Given the description of an element on the screen output the (x, y) to click on. 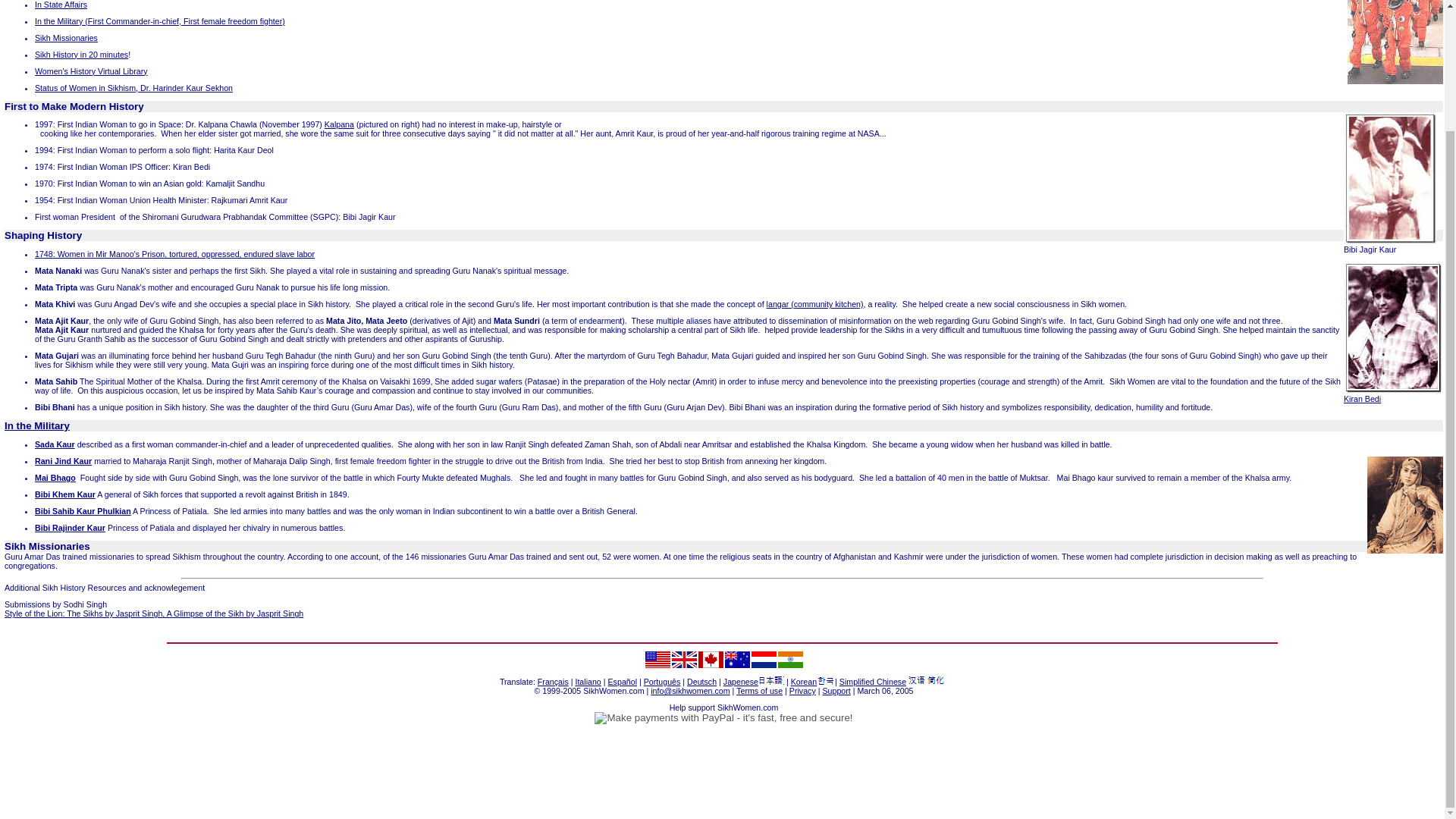
Bibi Rajinder Kaur (69, 527)
Rani Jind Kaur (62, 461)
Simplified Chinese (872, 681)
Additional Sikh History Resources and acknowlegement (104, 587)
Italiano (587, 681)
Advertisement (724, 775)
Korean (803, 681)
Espanol (622, 681)
In the Military (36, 425)
Kiran Bedi (1361, 398)
Sikh Missionaries (47, 546)
Sada Kaur (54, 443)
Bibi Khem Kaur (65, 493)
Women's History Virtual Library (91, 71)
